Given the description of an element on the screen output the (x, y) to click on. 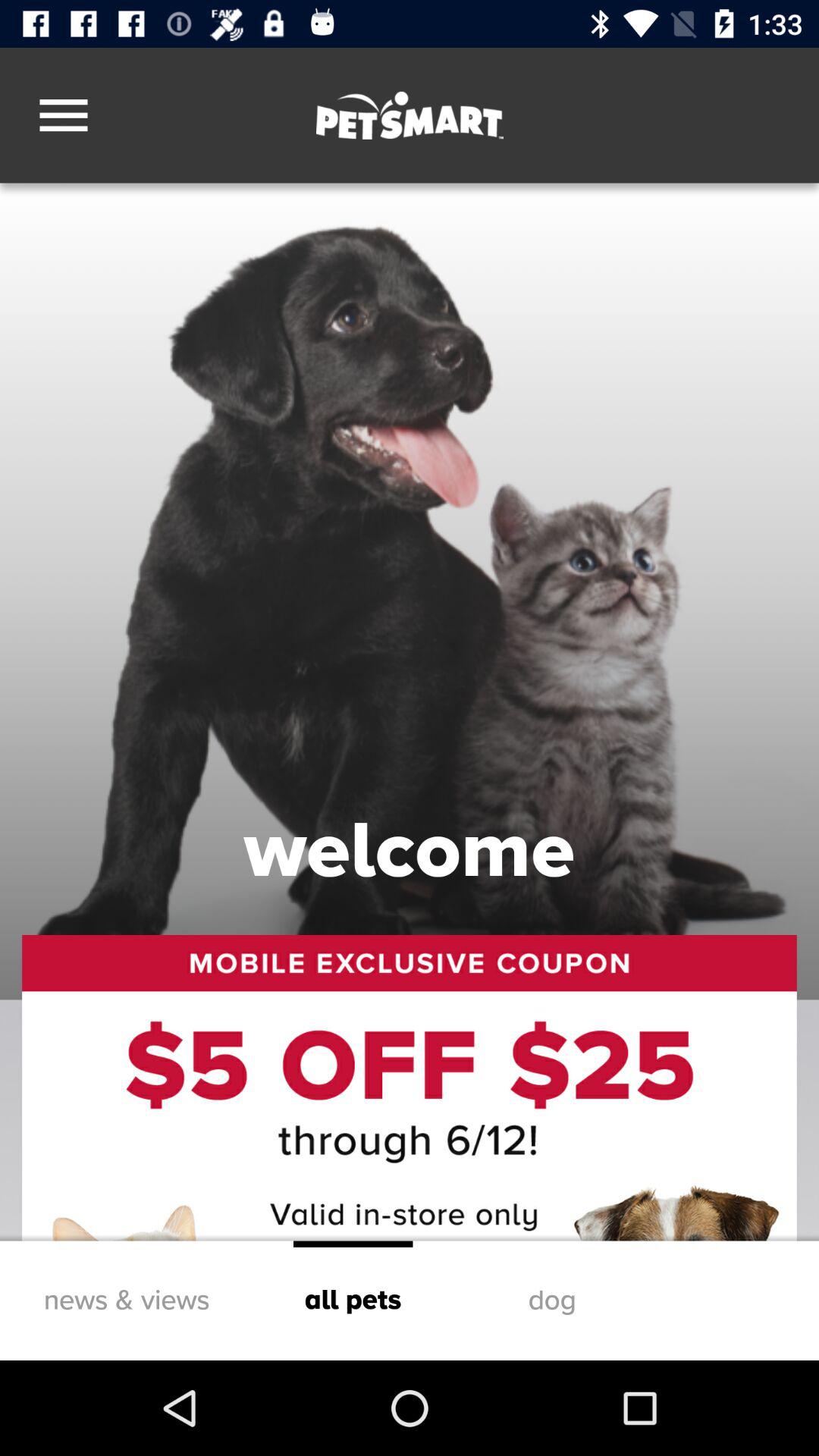
press news & views item (126, 1300)
